Given the description of an element on the screen output the (x, y) to click on. 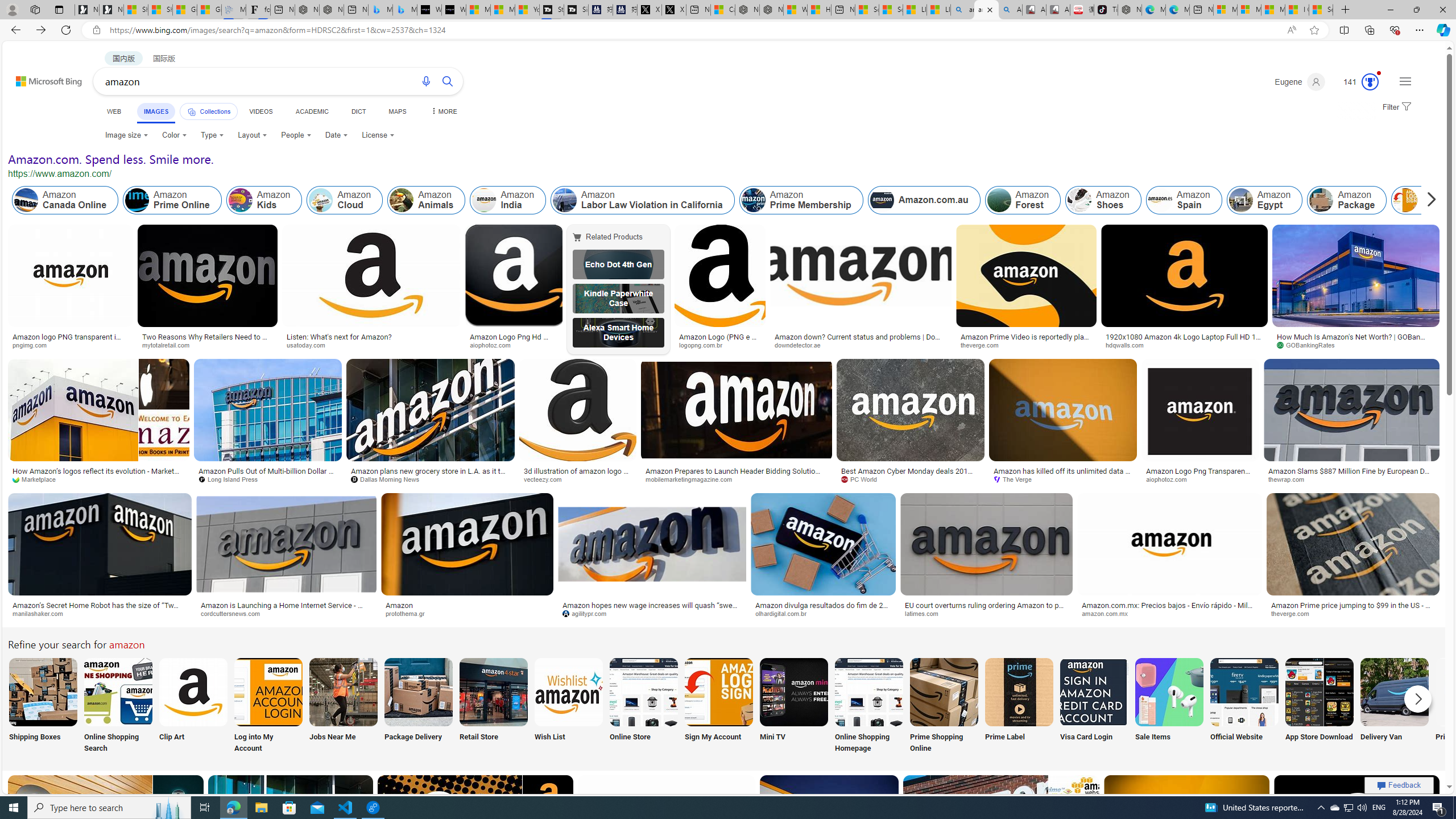
Amazon Sale Items (1169, 691)
usatoday.com (309, 344)
Color (173, 135)
Settings and quick links (1404, 80)
manilashaker.com (100, 613)
thewrap.com (1351, 479)
Amazon Delivery Van (1393, 691)
VIDEOS (260, 111)
Marketplace (98, 479)
Amazon (466, 605)
Type (212, 135)
Back to Bing search (41, 78)
